Given the description of an element on the screen output the (x, y) to click on. 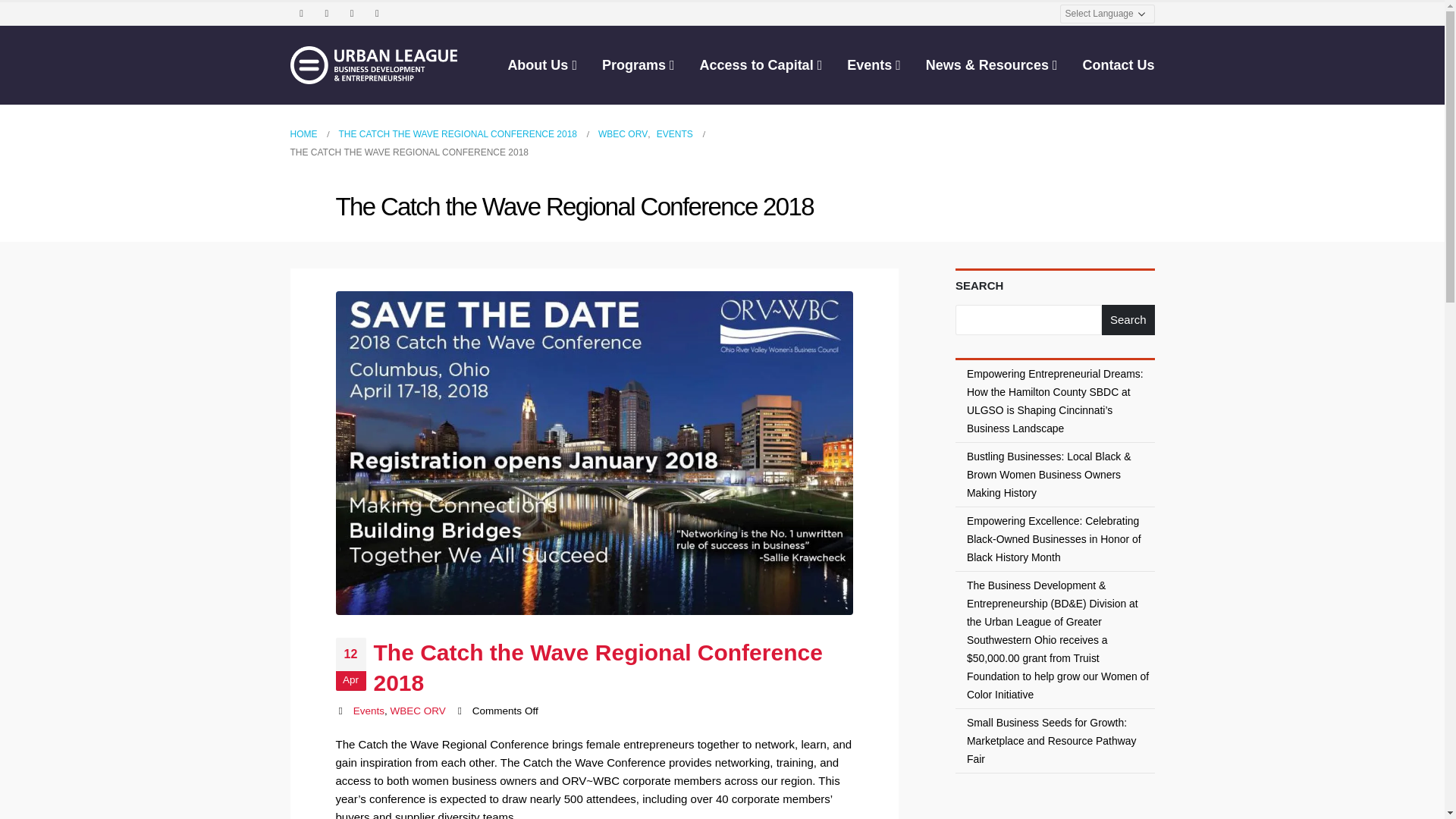
Events (368, 710)
Go to Home Page (303, 134)
THE CATCH THE WAVE REGIONAL CONFERENCE 2018 (456, 134)
Programs (638, 64)
HOME (303, 134)
Instagram (351, 13)
Urban League Greater Southwestern Ohio -  (373, 64)
EVENTS (674, 134)
Access to Capital (760, 64)
LinkedIn (376, 13)
Twitter (326, 13)
Facebook (302, 13)
WBEC ORV (622, 134)
Contact Us (1118, 64)
About Us (542, 64)
